Given the description of an element on the screen output the (x, y) to click on. 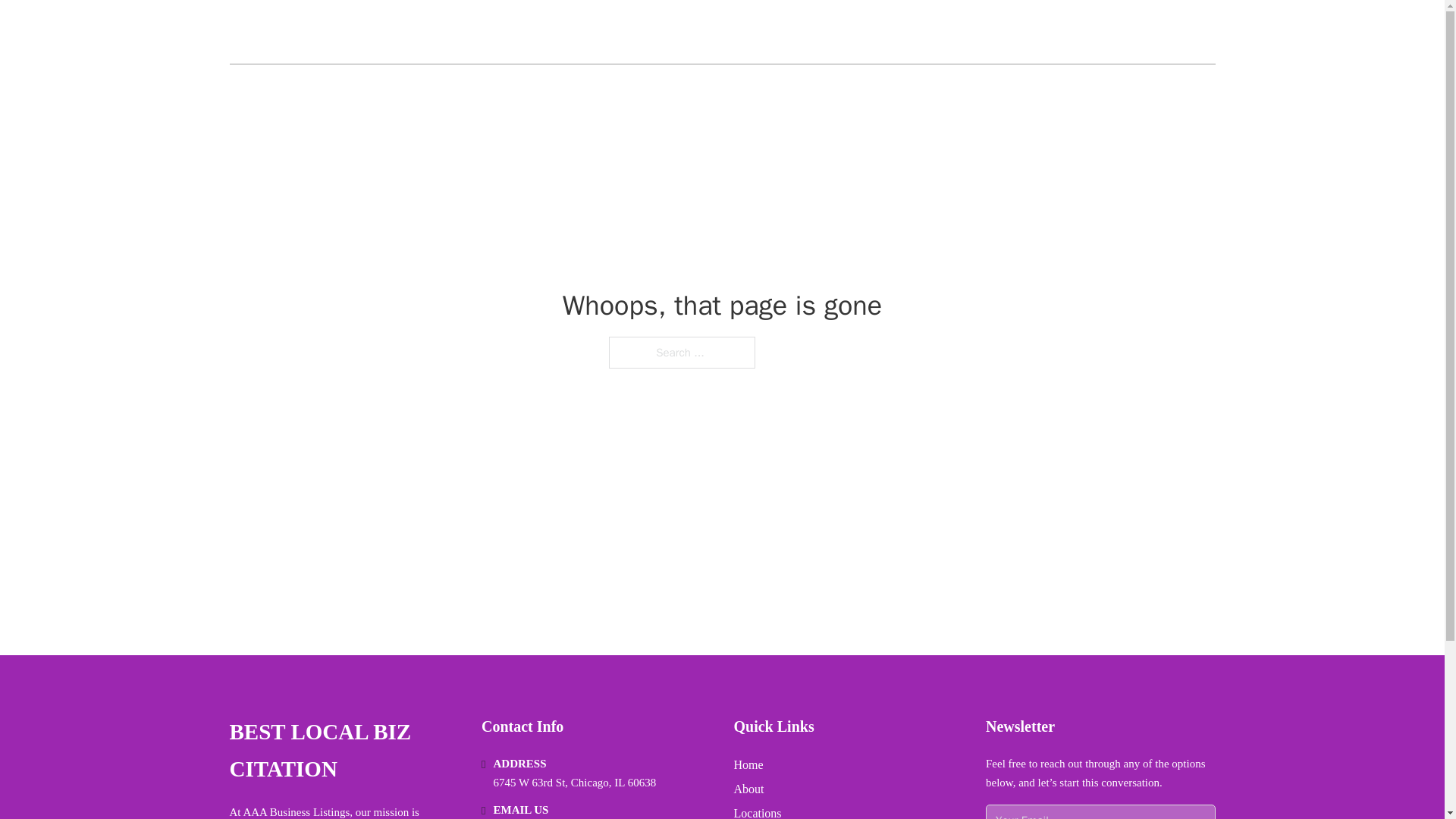
BEST LOCAL BIZ CITATION (391, 31)
About (748, 788)
Home (747, 764)
HOME (1032, 31)
Locations (757, 811)
BEST LOCAL BIZ CITATION (343, 750)
LOCATIONS (1105, 31)
